Given the description of an element on the screen output the (x, y) to click on. 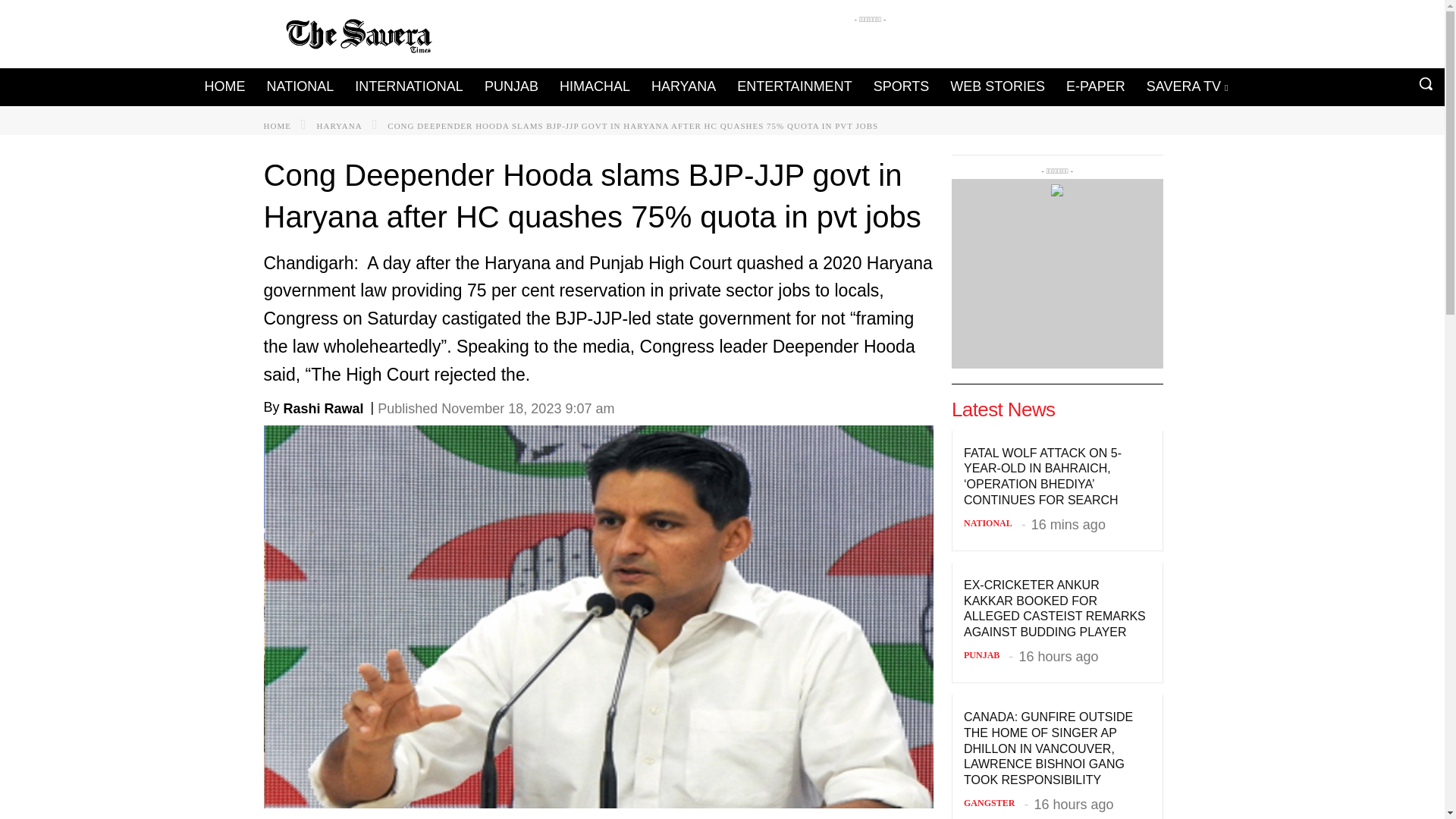
WEB STORIES (997, 85)
HIMACHAL (594, 85)
INTERNATIONAL (408, 85)
HOME (277, 125)
HOME (223, 86)
E-PAPER (1095, 85)
SPORTS (901, 85)
HARYANA (683, 85)
HARYANA (339, 125)
PUNJAB (511, 85)
